Given the description of an element on the screen output the (x, y) to click on. 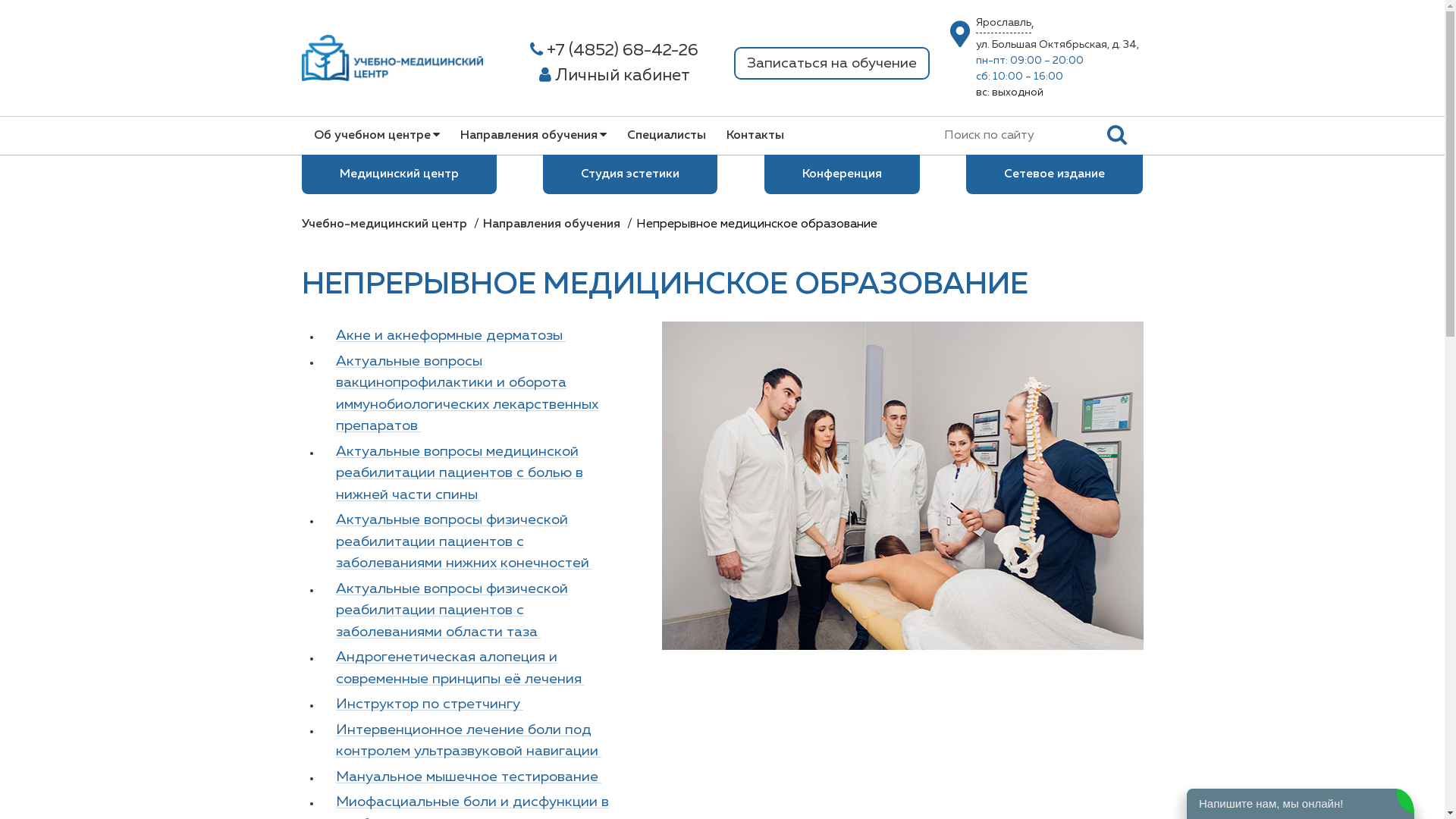
 +7 (4852) 68-42-26 Element type: text (613, 50)
